Given the description of an element on the screen output the (x, y) to click on. 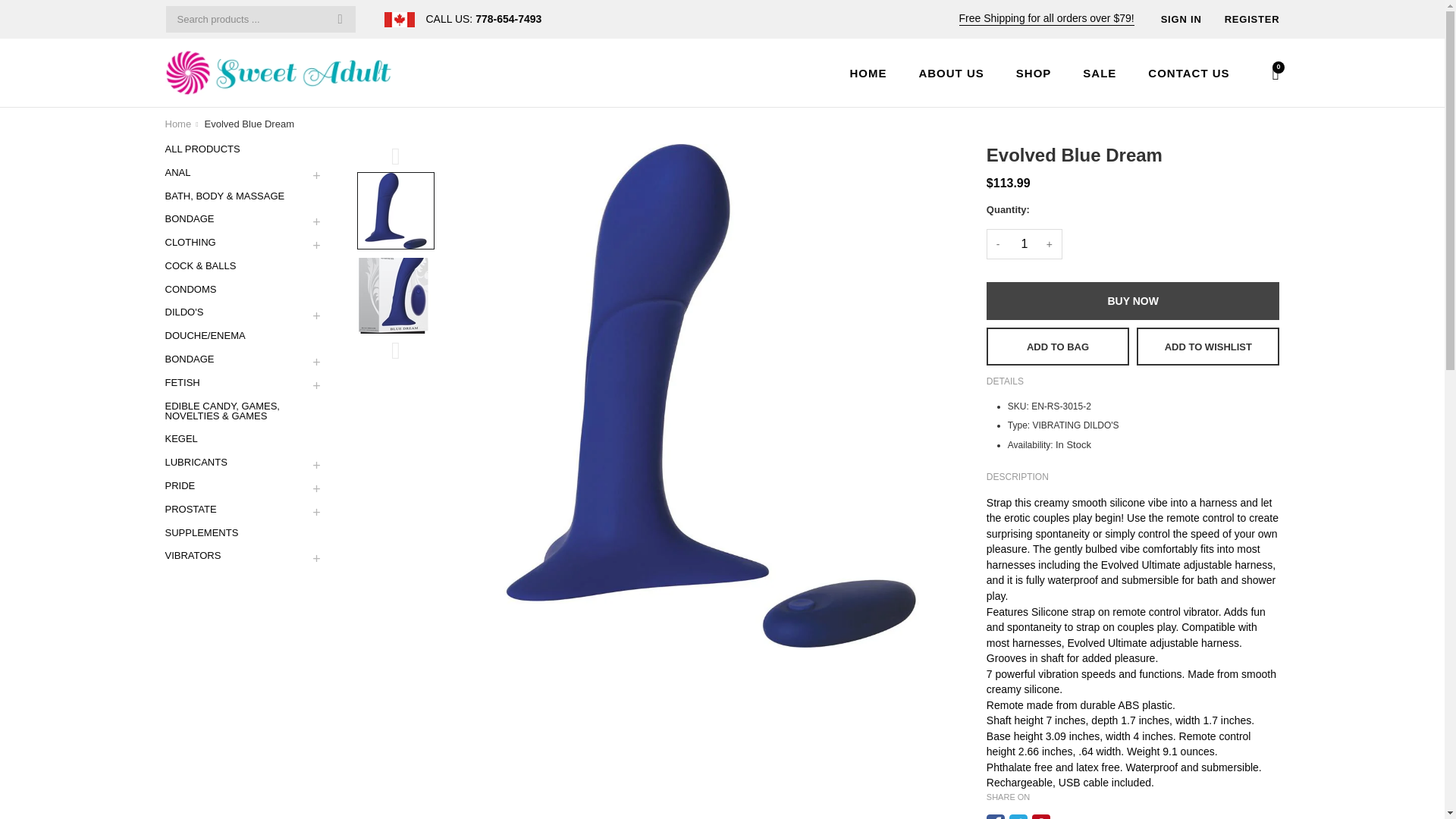
Toggle menu (316, 315)
Pin on Pinterest (1040, 816)
SIGN IN (1181, 19)
1 (1024, 244)
Toggle menu (316, 362)
REGISTER (1251, 19)
ANAL (233, 171)
CLOTHING (233, 242)
ALL PRODUCTS (248, 151)
Home (178, 124)
Toggle menu (316, 245)
Toggle menu (316, 222)
Toggle menu (316, 488)
Toggle menu (316, 559)
Toggle menu (316, 385)
